Given the description of an element on the screen output the (x, y) to click on. 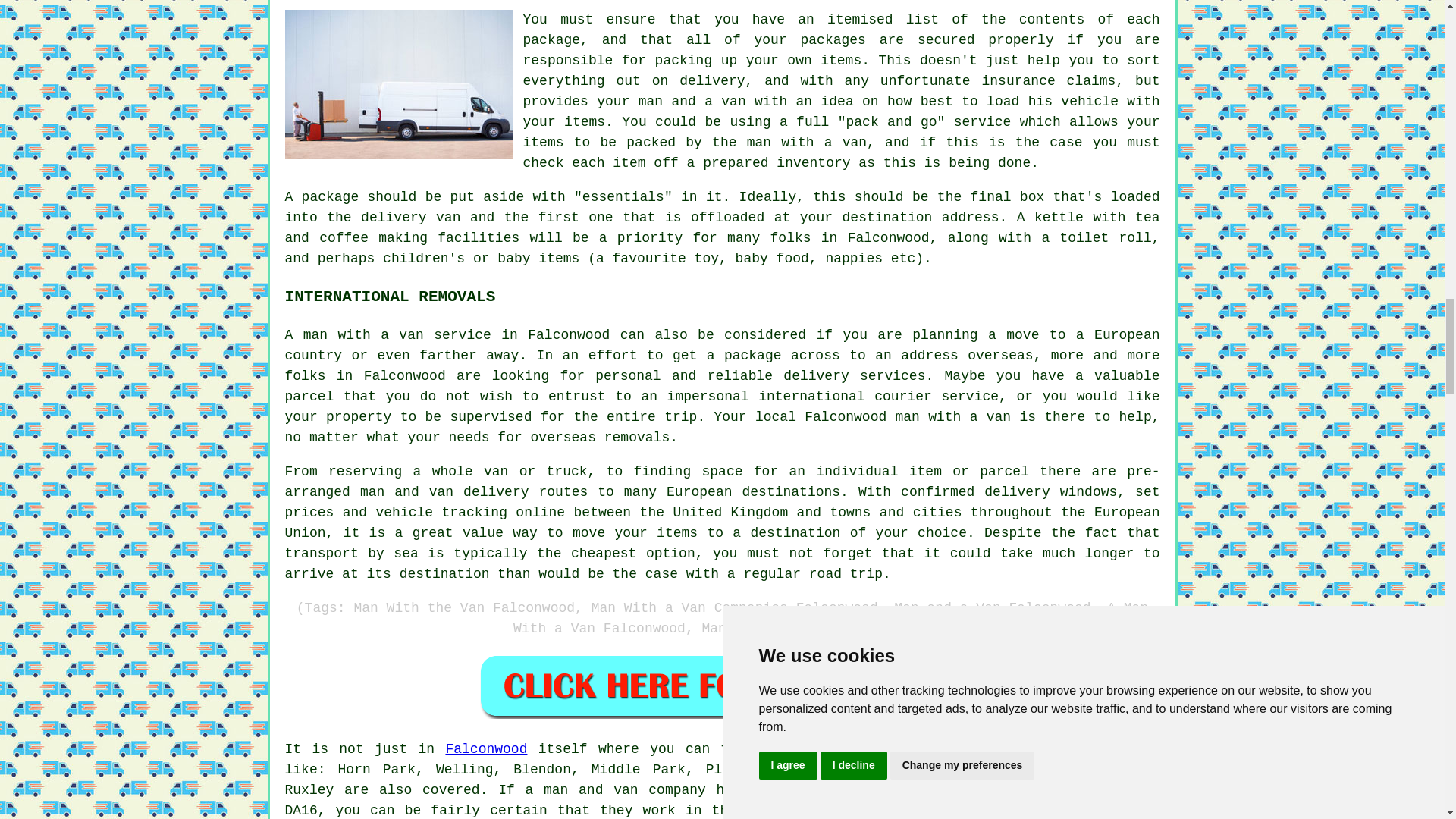
Book a Man and Van Falconwood (722, 685)
Man and Van Falconwood (398, 83)
man with a van (825, 749)
